Given the description of an element on the screen output the (x, y) to click on. 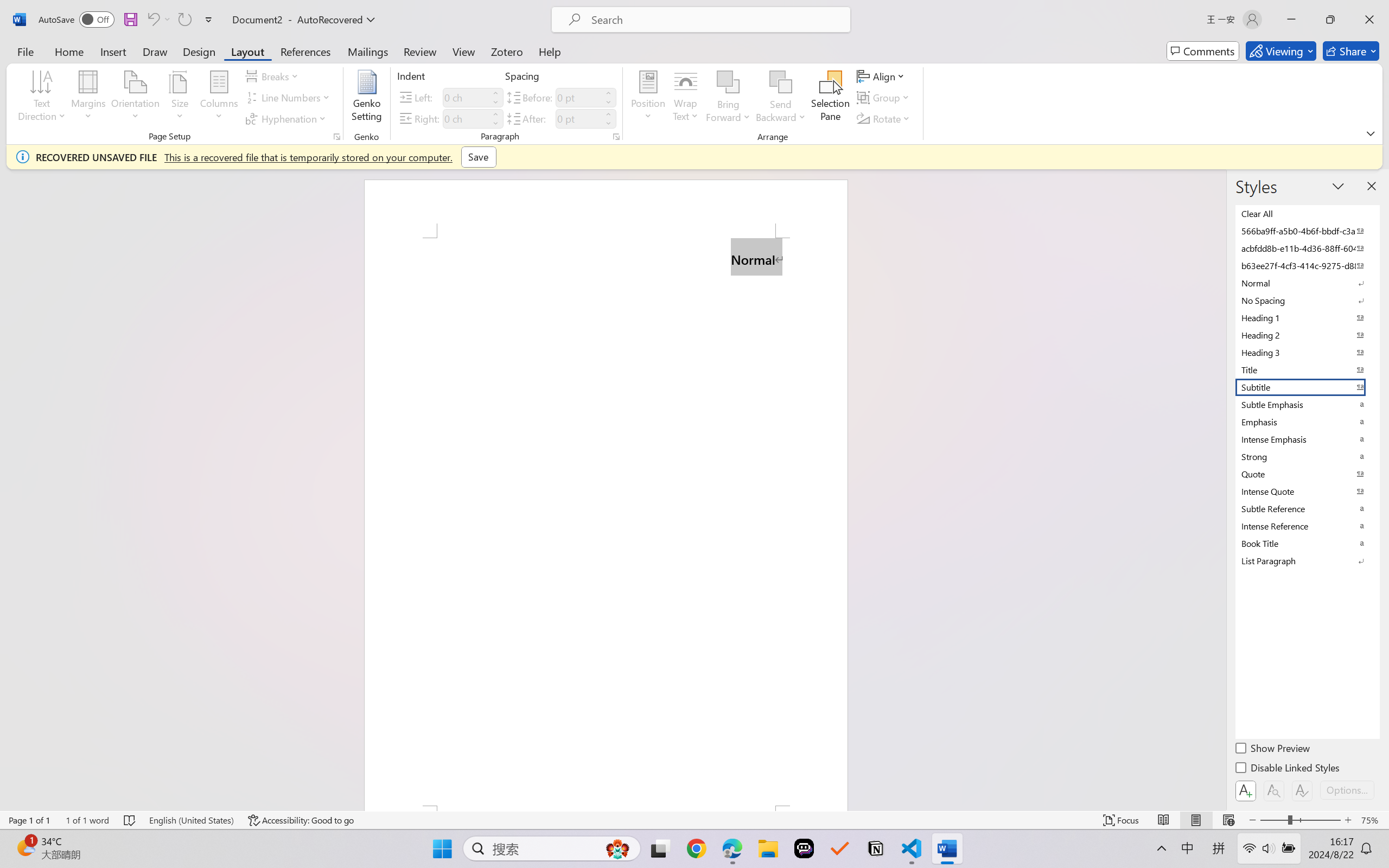
Send Backward (781, 97)
